Given the description of an element on the screen output the (x, y) to click on. 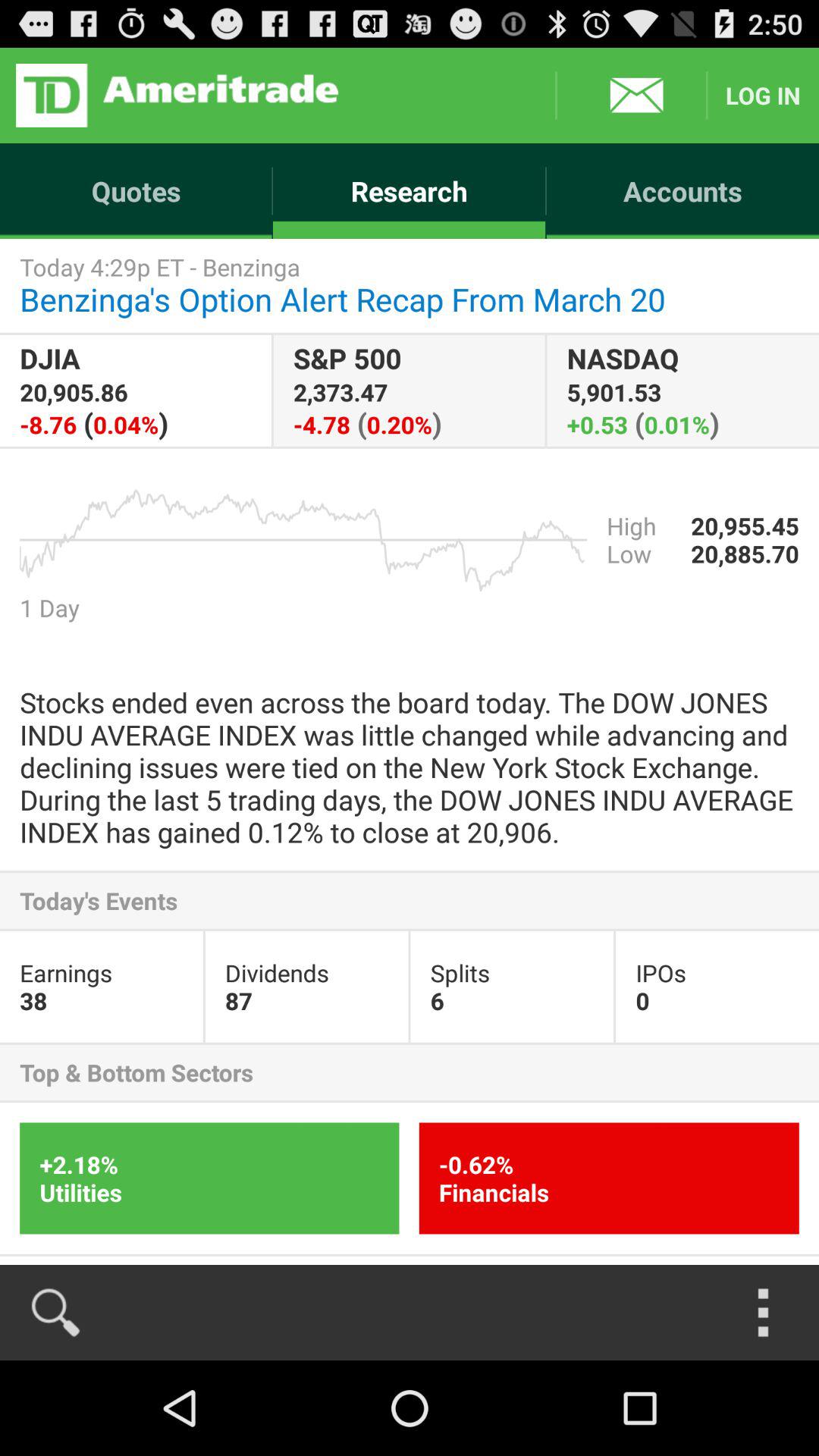
launch djia 20 905 item (135, 390)
